Given the description of an element on the screen output the (x, y) to click on. 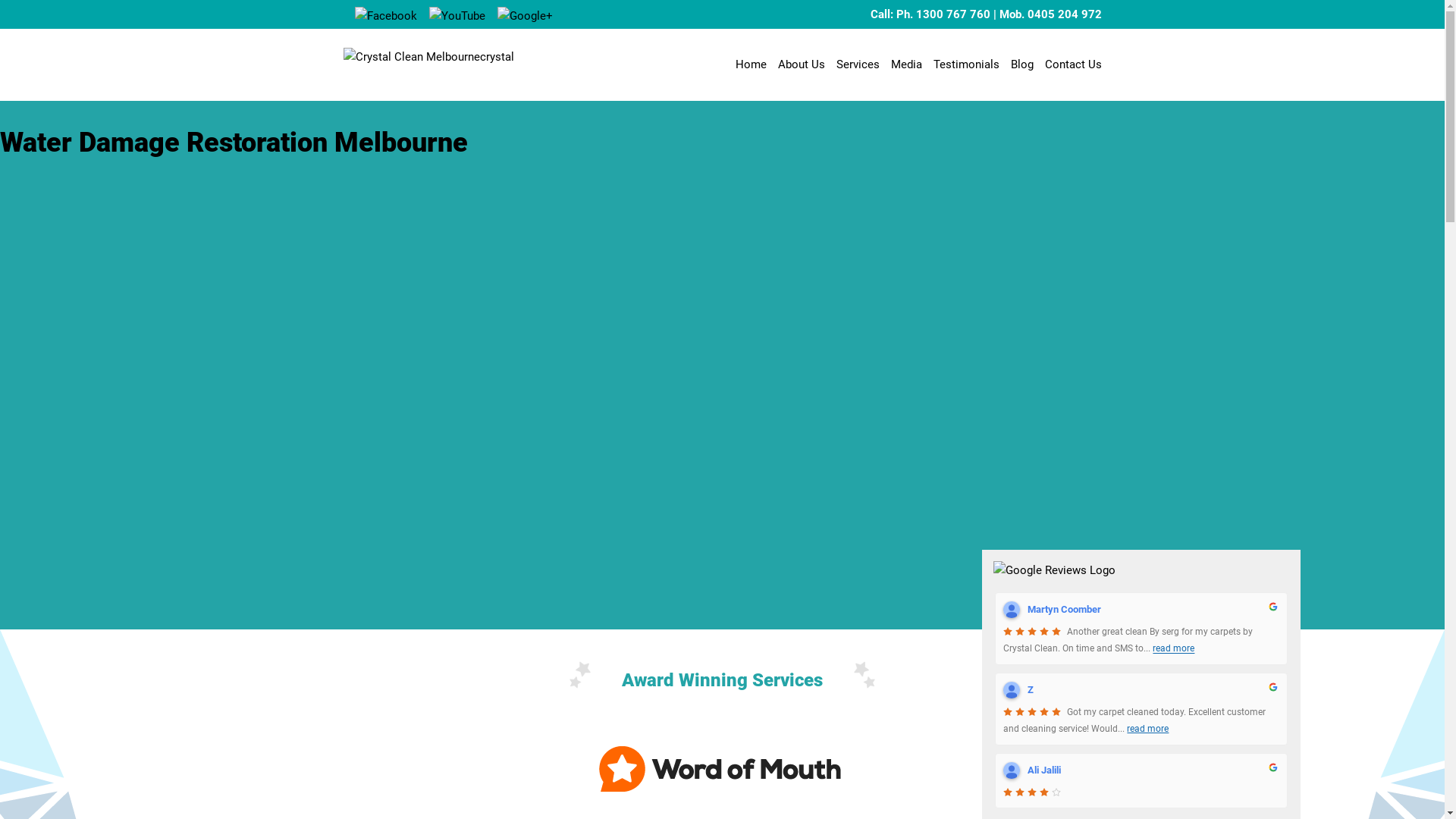
Services Element type: text (856, 64)
Contact Us Element type: text (1072, 64)
Ali Jalili Element type: hover (1011, 770)
Blog Element type: text (1021, 64)
0405 204 972 Element type: text (1063, 14)
1300 767 760 Element type: text (953, 14)
Martyn Coomber Element type: hover (1011, 609)
About Us Element type: text (801, 64)
Media Element type: text (905, 64)
Home Element type: text (750, 64)
Z Element type: hover (1011, 689)
Testimonials Element type: text (965, 64)
